Given the description of an element on the screen output the (x, y) to click on. 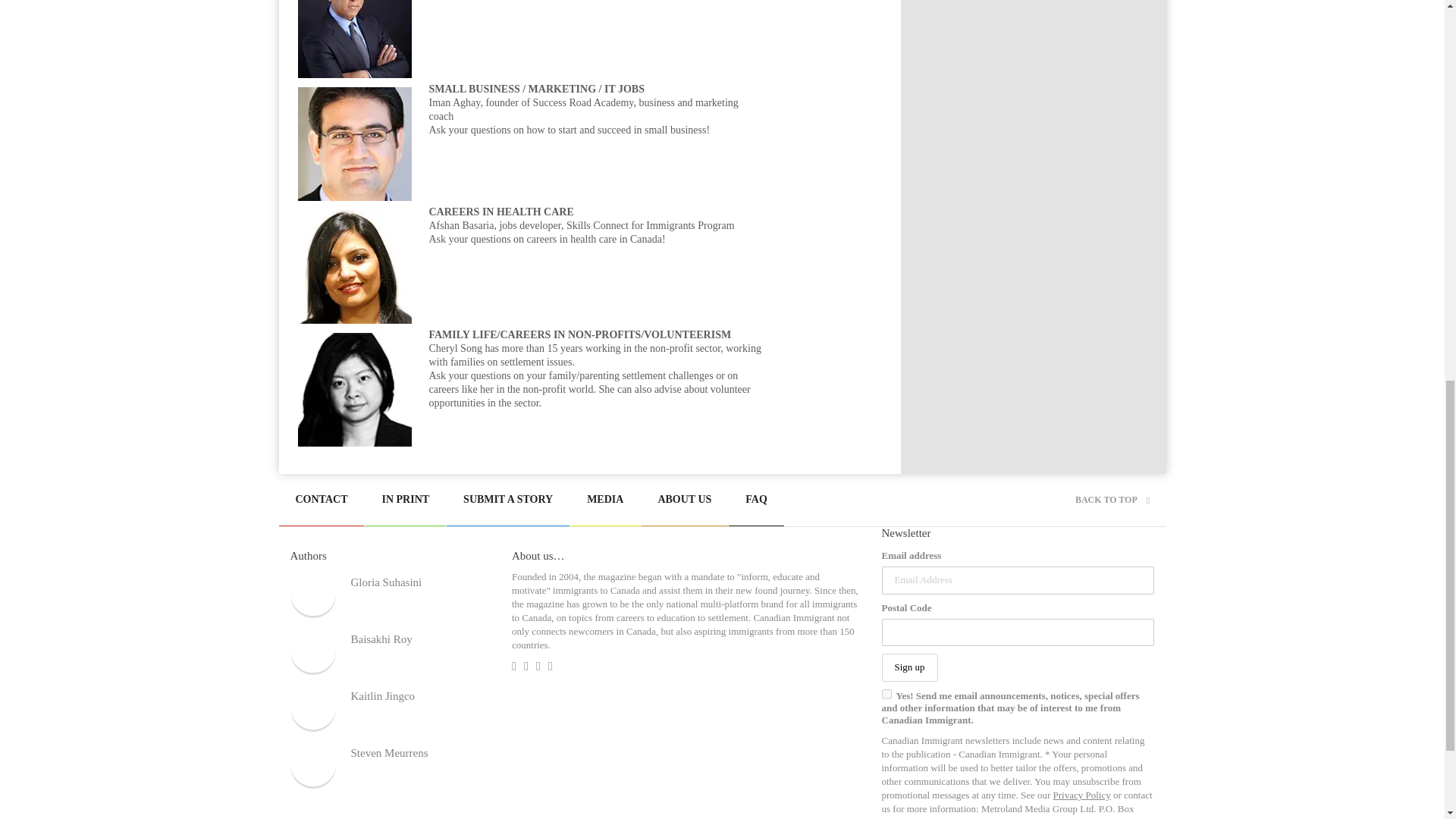
1 (885, 694)
BACK TO TOP (1112, 499)
Sign up (908, 667)
